Given the description of an element on the screen output the (x, y) to click on. 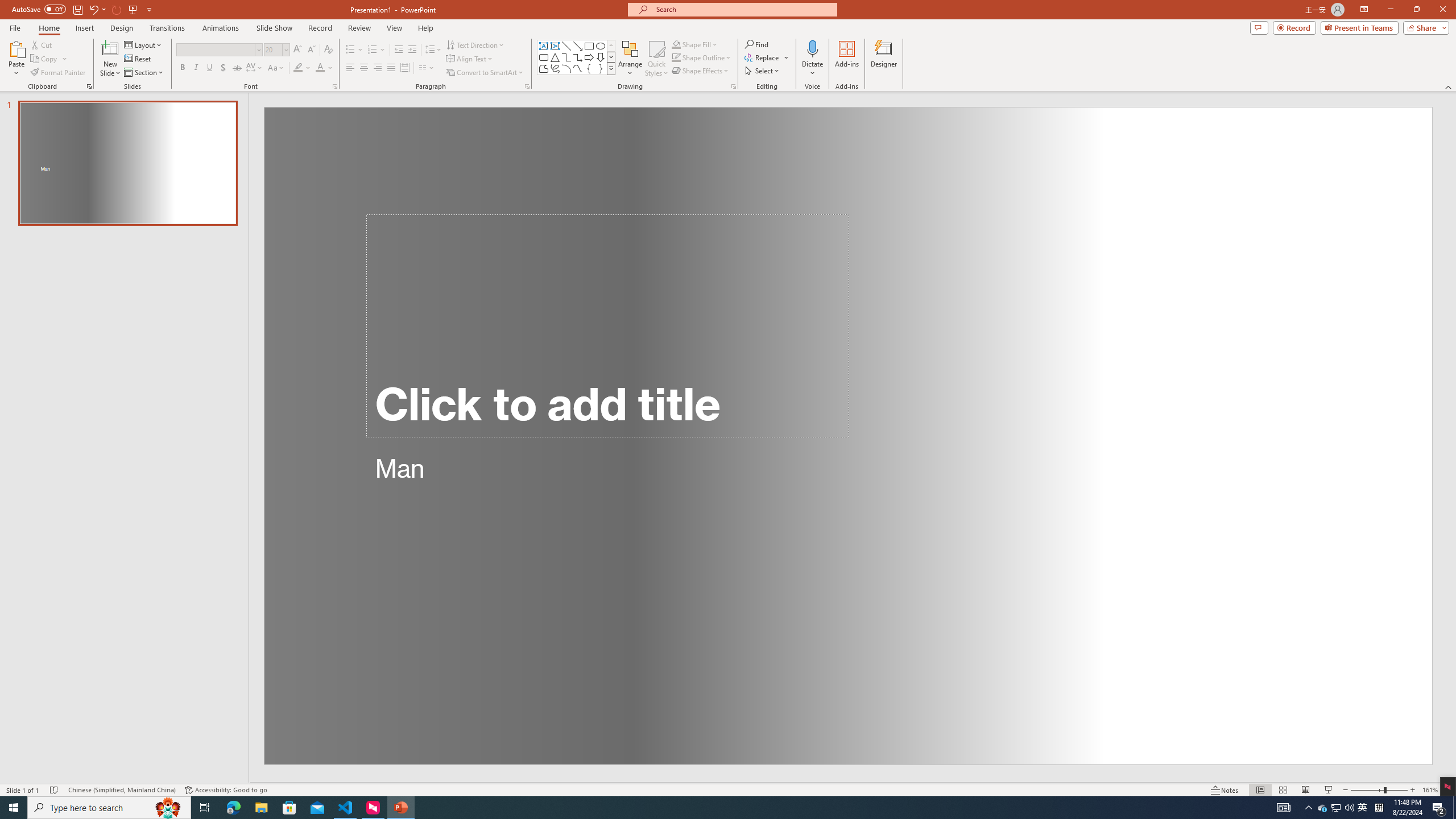
Undo (96, 9)
Undo (92, 9)
Format Object... (733, 85)
Dictate (812, 48)
Present in Teams (1359, 27)
AutomationID: ShapesInsertGallery (576, 57)
Reading View (1305, 790)
Slide Sorter (1282, 790)
Shape Fill (694, 44)
File Tab (15, 27)
Change Case (276, 67)
Row up (611, 45)
Zoom 161% (1430, 790)
Zoom In (1412, 790)
